Given the description of an element on the screen output the (x, y) to click on. 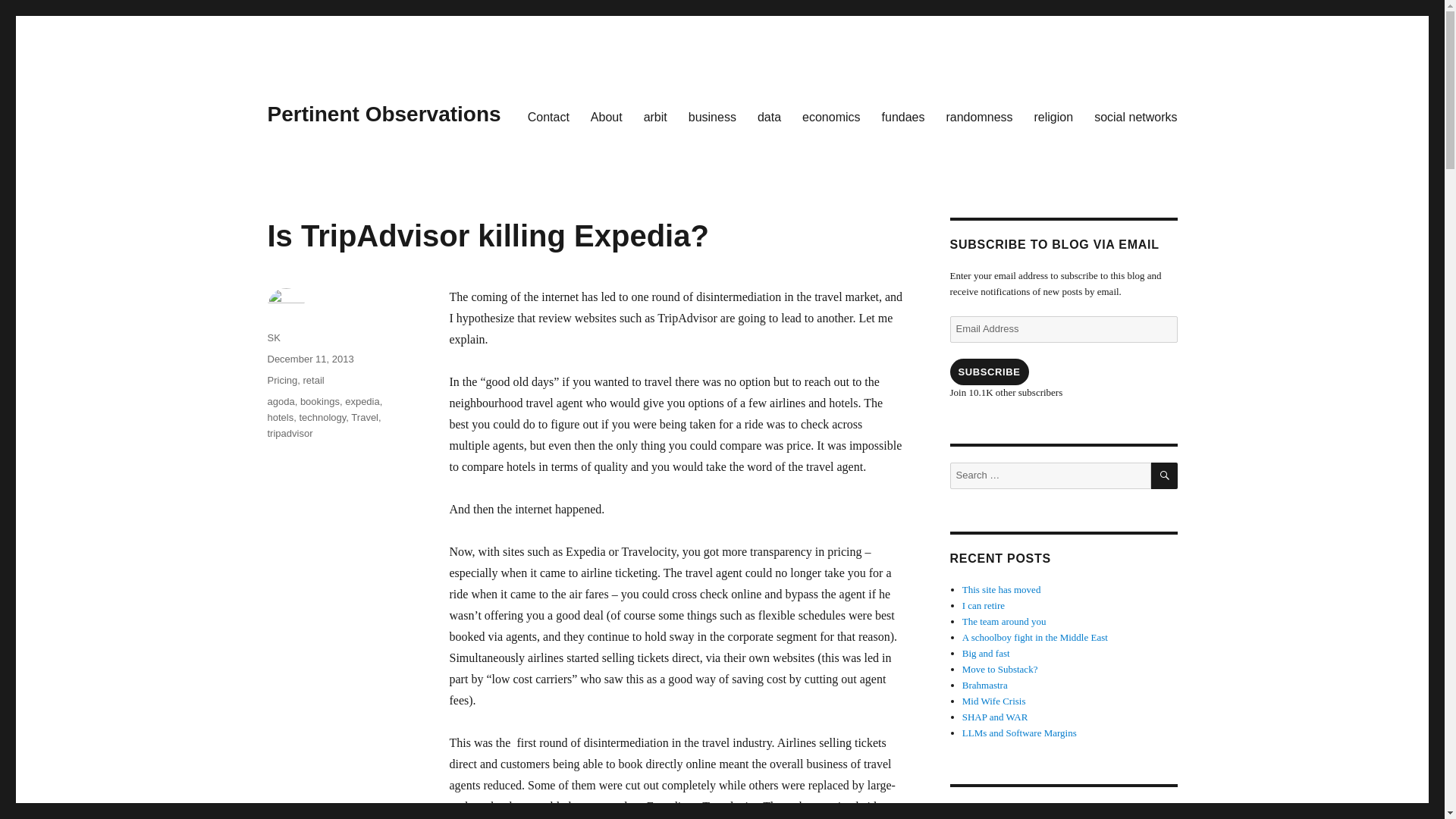
Contact (547, 116)
SK (272, 337)
data (769, 116)
economics (831, 116)
retail (312, 379)
social networks (1135, 116)
arbit (655, 116)
Travel (364, 417)
Pertinent Observations (383, 114)
business (712, 116)
